Given the description of an element on the screen output the (x, y) to click on. 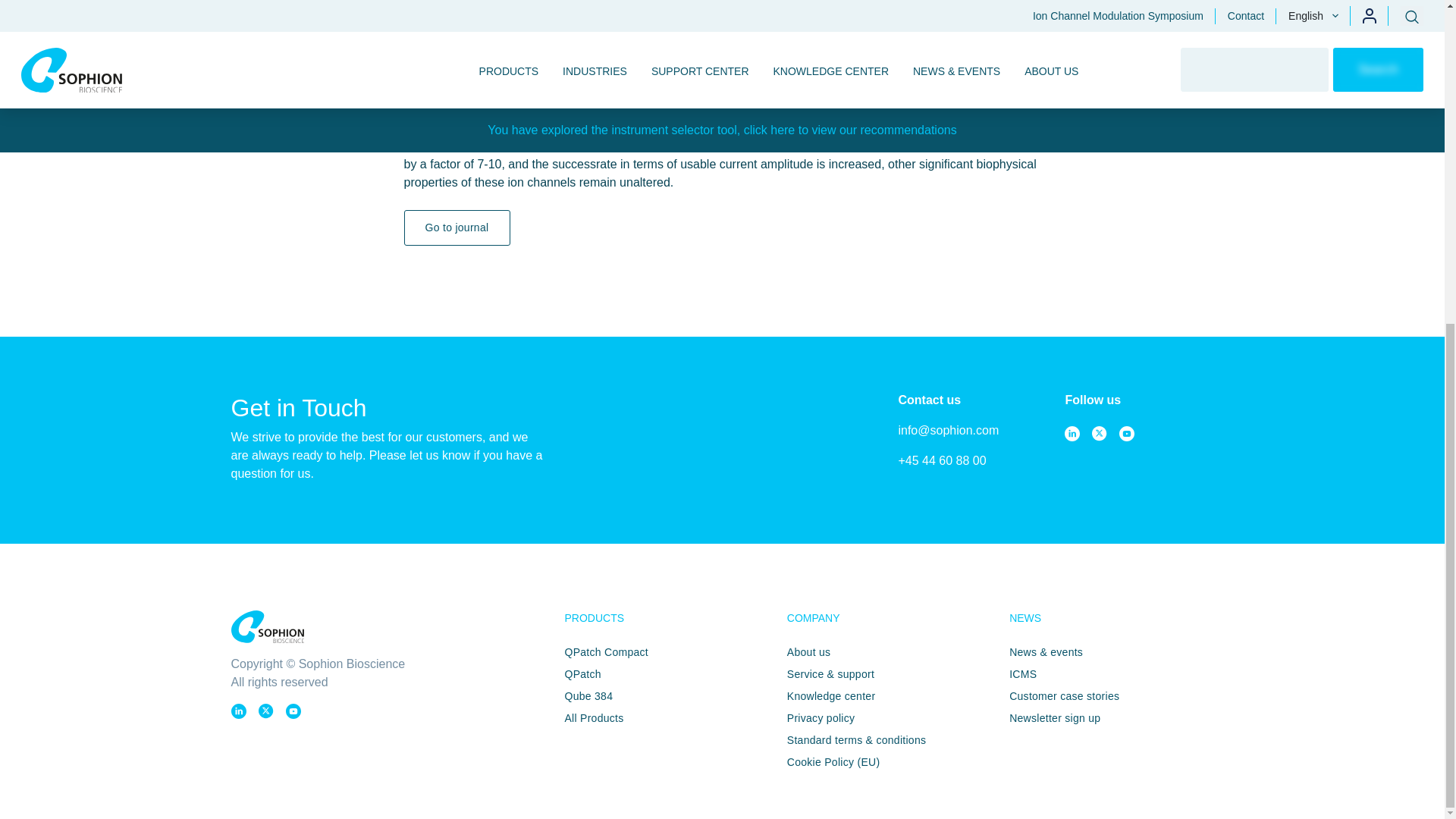
Visit our youtube page (292, 711)
Visit our Linkedin page (238, 711)
Visit our Linkedin page (1072, 433)
Visit our Twitter page (1099, 433)
Visit our youtube page (1126, 433)
Visit our Twitter page (265, 711)
